Given the description of an element on the screen output the (x, y) to click on. 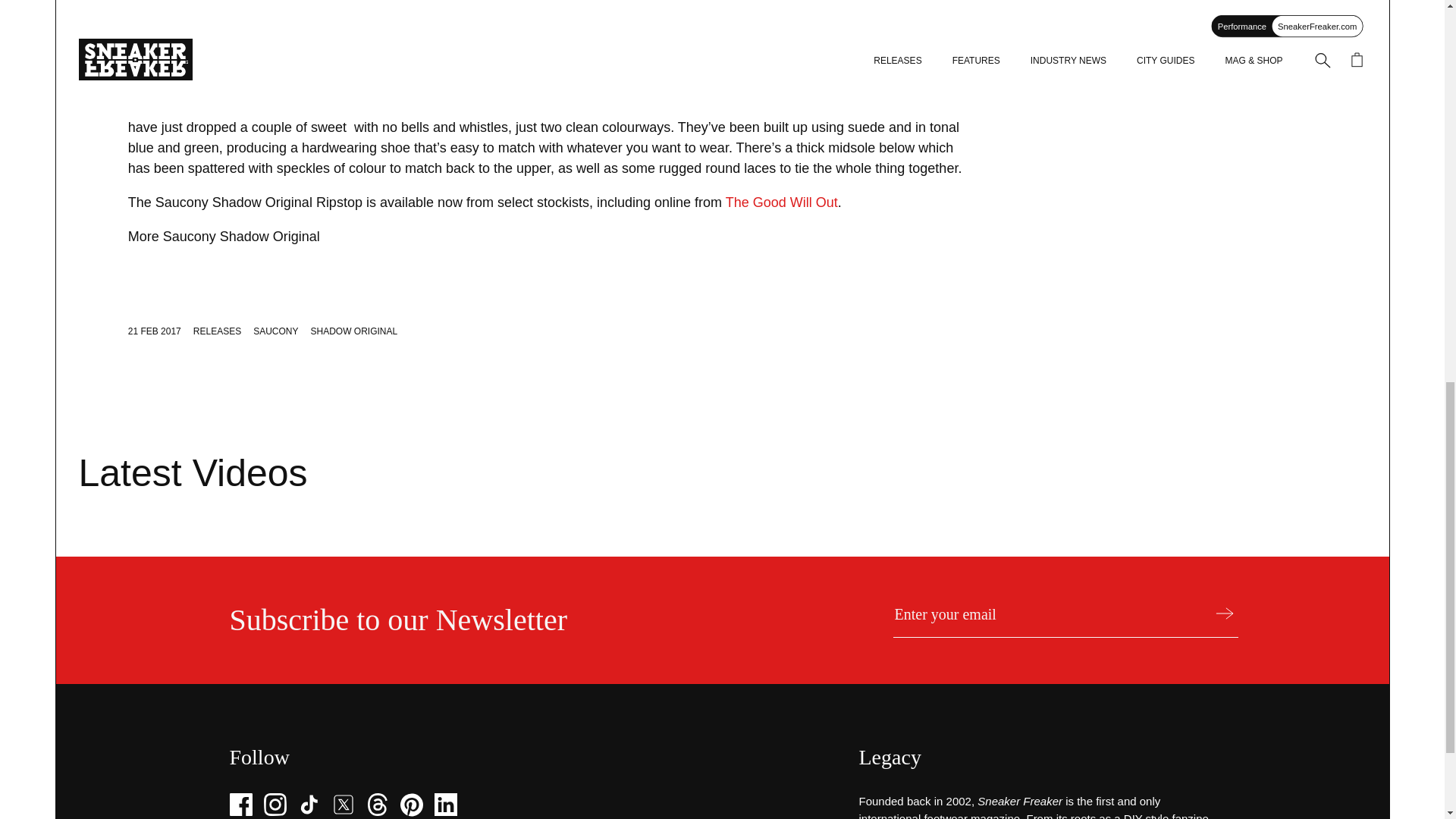
RELEASES (217, 330)
The Good Will Out (781, 201)
SAUCONY (275, 330)
SHADOW ORIGINAL (354, 330)
